Given the description of an element on the screen output the (x, y) to click on. 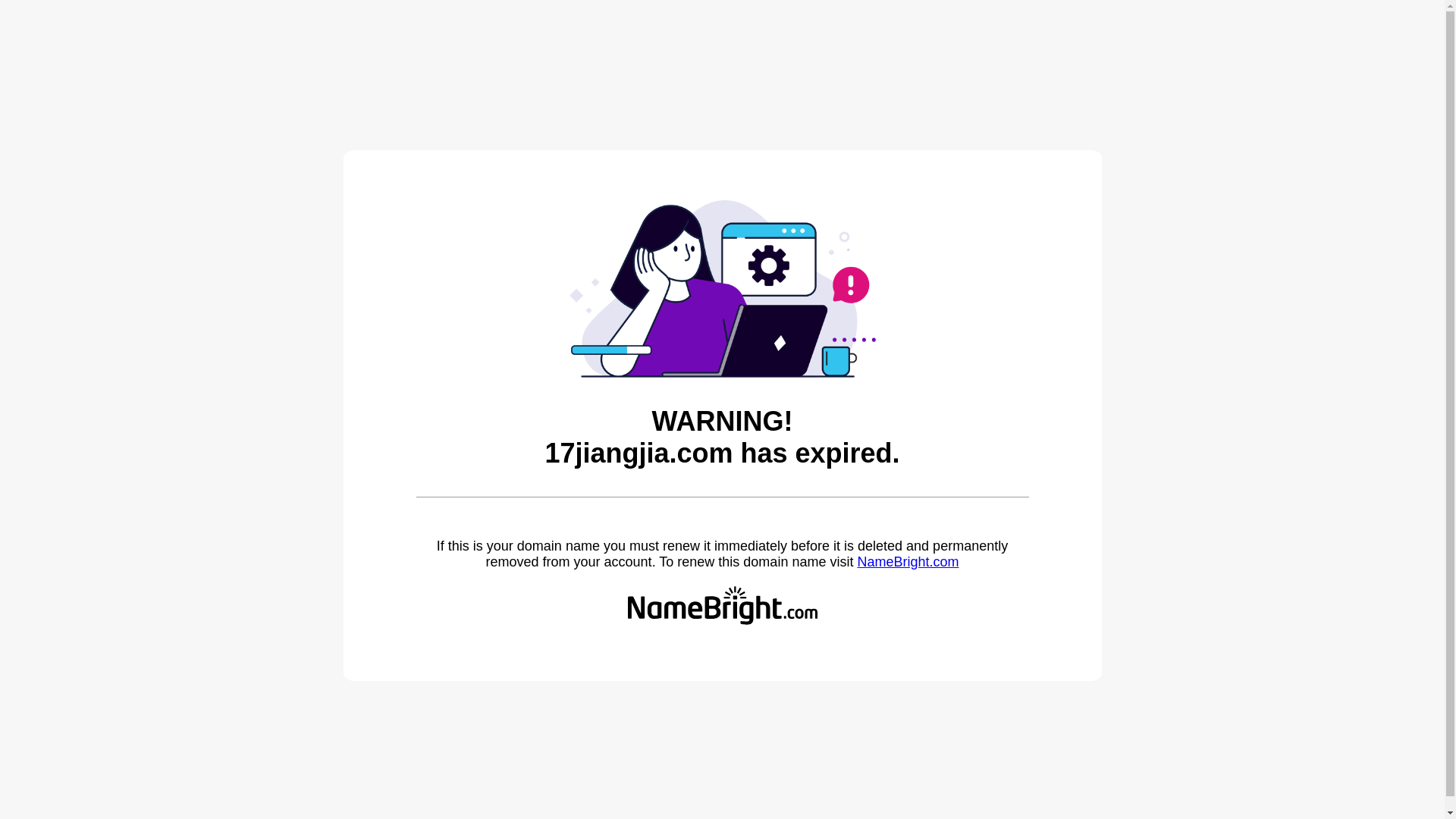
NameBright.com Element type: text (907, 561)
